Given the description of an element on the screen output the (x, y) to click on. 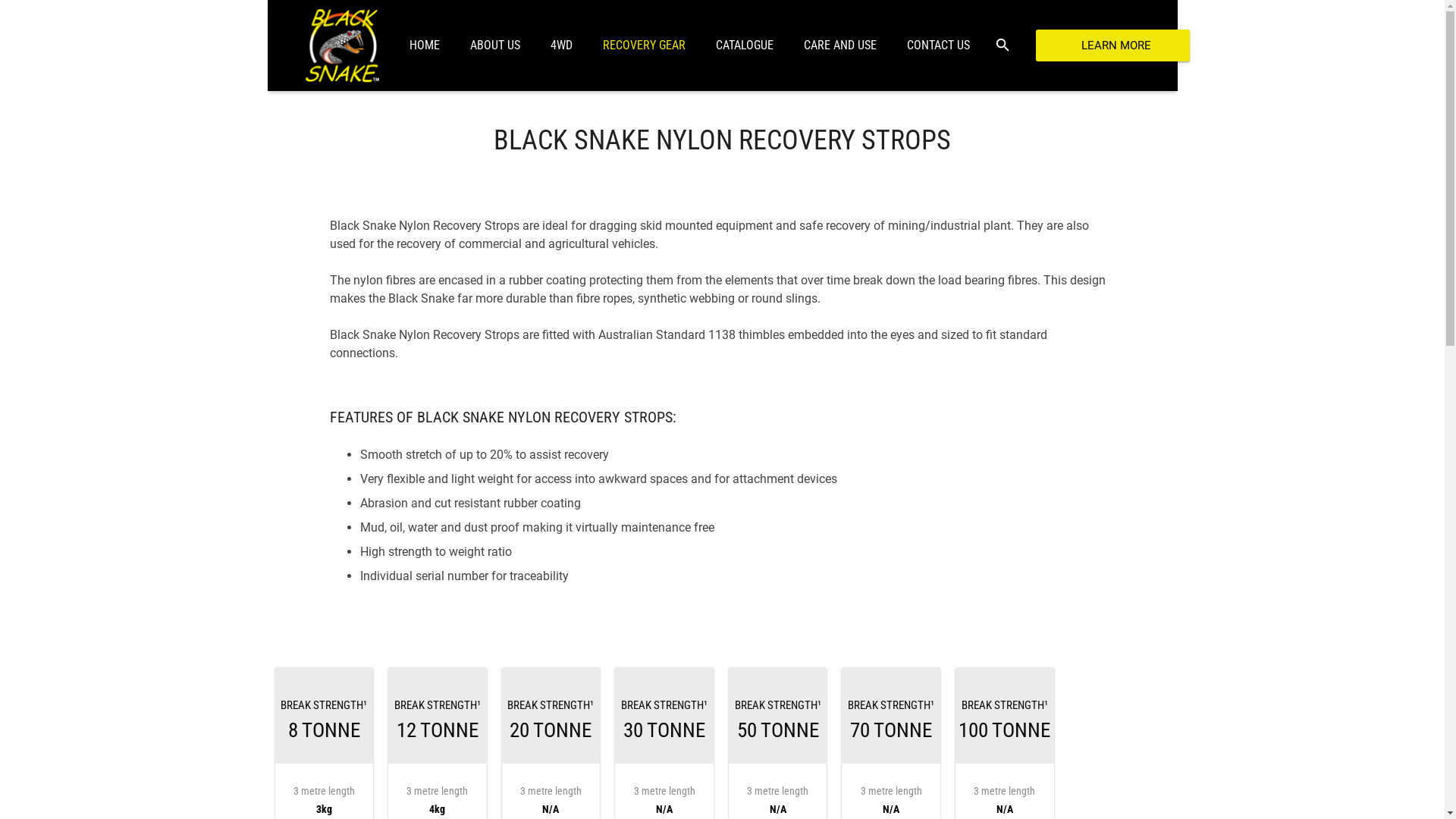
CARE AND USE Element type: text (839, 45)
CATALOGUE Element type: text (744, 45)
CONTACT US Element type: text (938, 45)
ABOUT US Element type: text (495, 45)
RECOVERY GEAR Element type: text (642, 45)
HOME Element type: text (424, 45)
4WD Element type: text (561, 45)
